Given the description of an element on the screen output the (x, y) to click on. 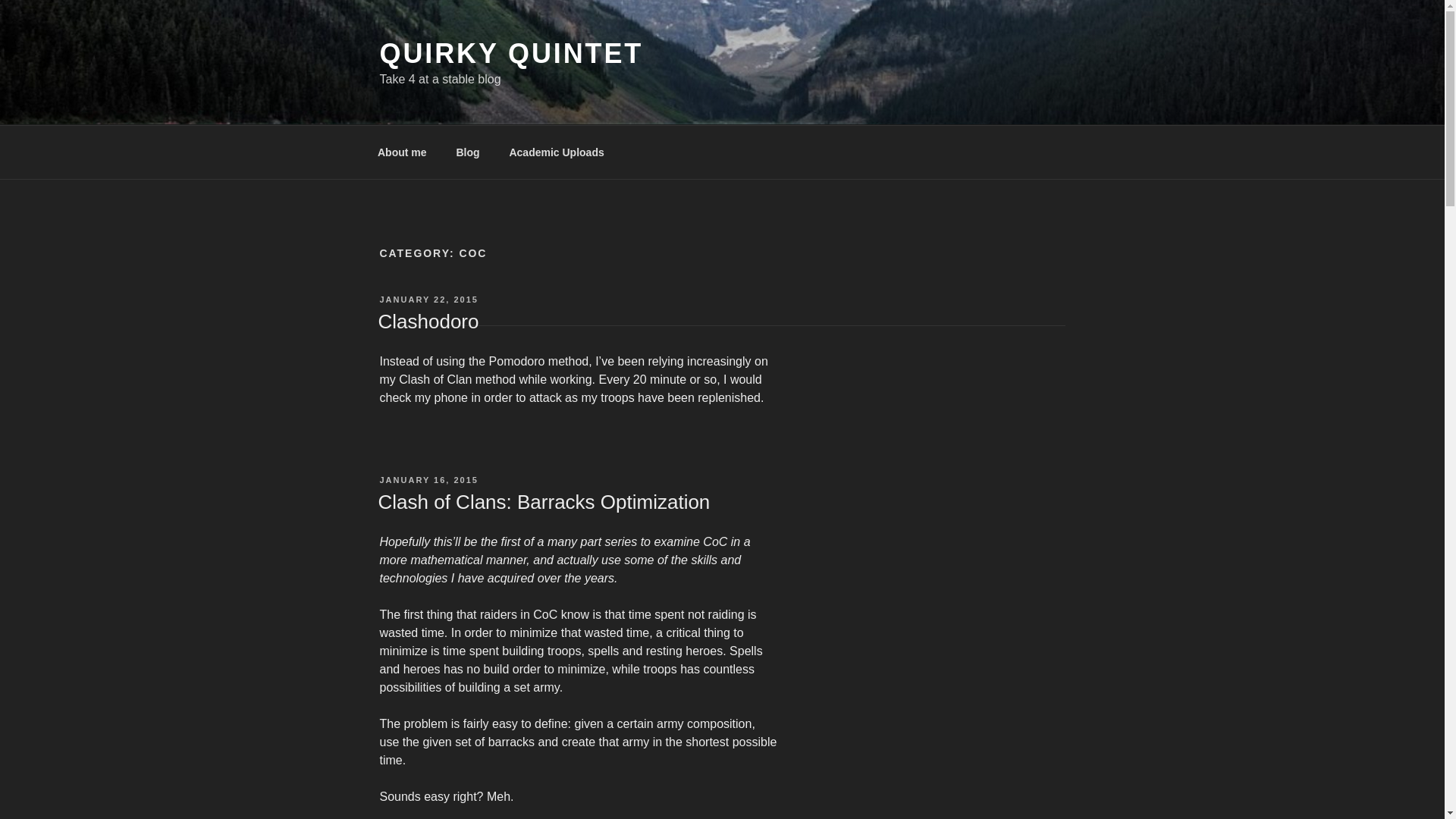
About me (401, 151)
Blog (467, 151)
Clashodoro (428, 321)
QUIRKY QUINTET (510, 52)
JANUARY 16, 2015 (427, 479)
Clash of Clans: Barracks Optimization (543, 501)
Academic Uploads (556, 151)
JANUARY 22, 2015 (427, 298)
